Given the description of an element on the screen output the (x, y) to click on. 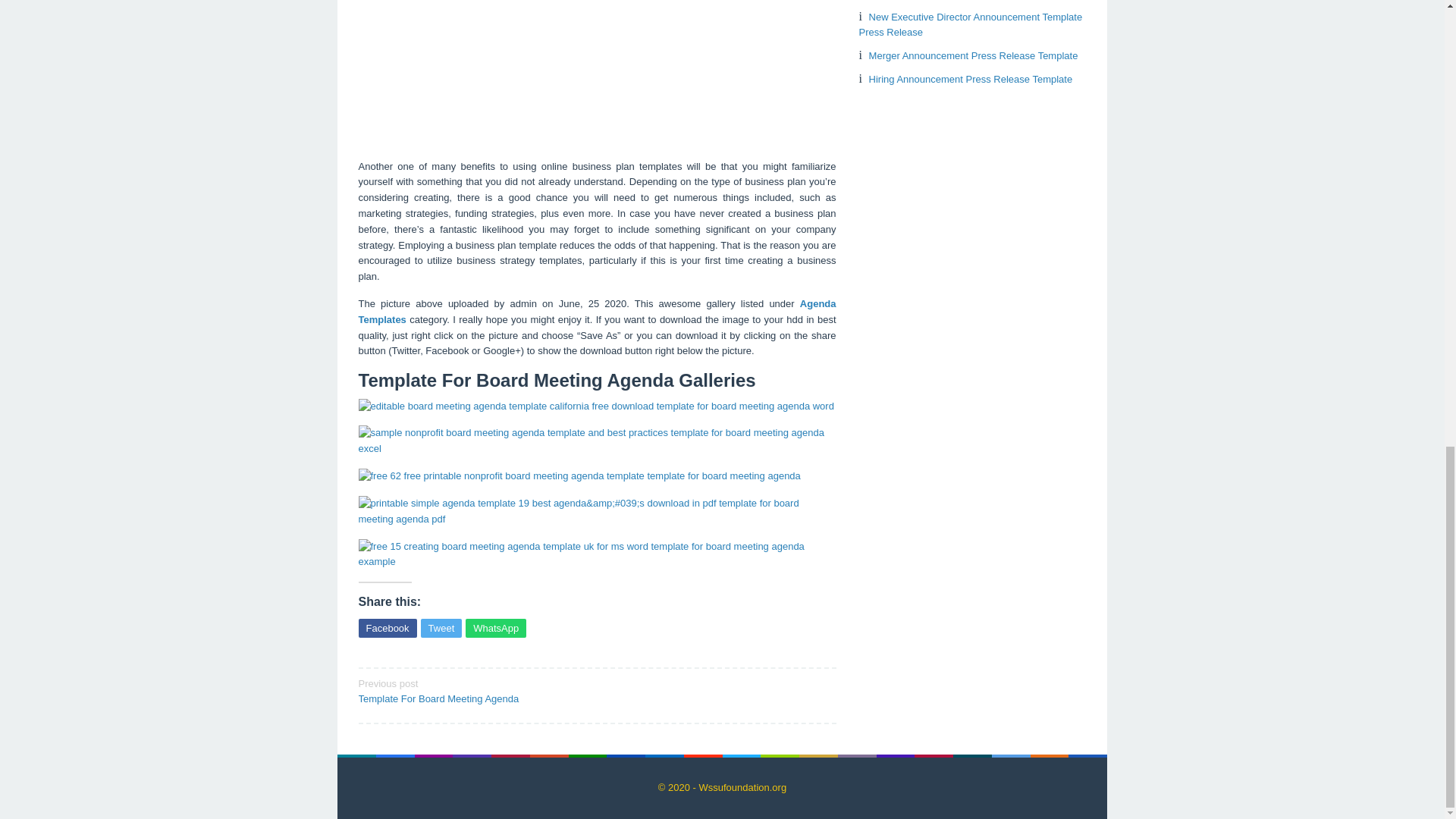
Facebook (387, 628)
Hiring Announcement Press Release Template (472, 690)
Agenda Templates (971, 79)
WhatsApp (596, 311)
Tweet this (495, 628)
Tweet (441, 628)
Merger Announcement Press Release Template (441, 628)
Share this (973, 55)
New Executive Director Announcement Template Press Release (387, 628)
